Given the description of an element on the screen output the (x, y) to click on. 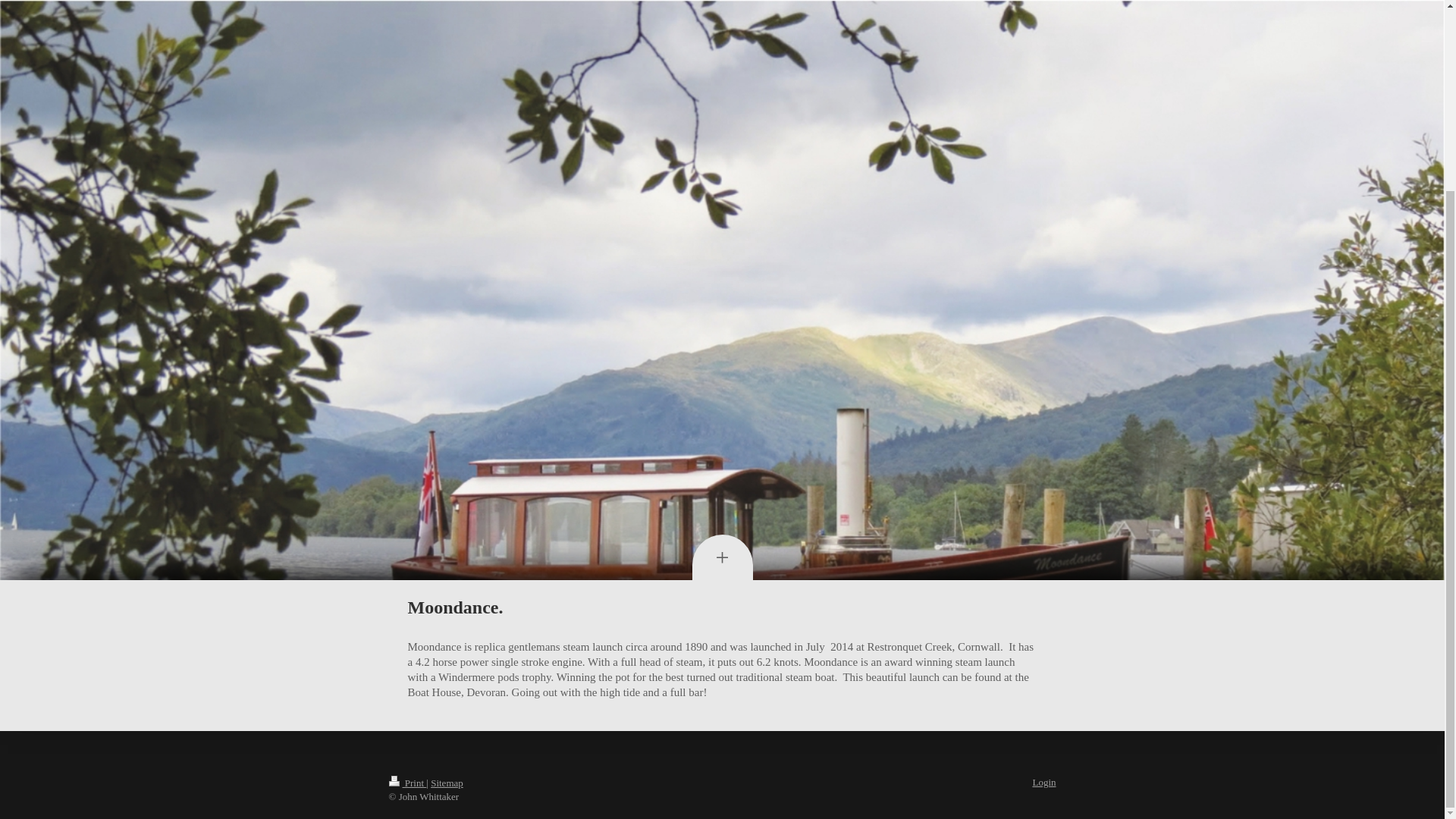
Print (407, 782)
Sitemap (446, 782)
Login (1043, 781)
